Given the description of an element on the screen output the (x, y) to click on. 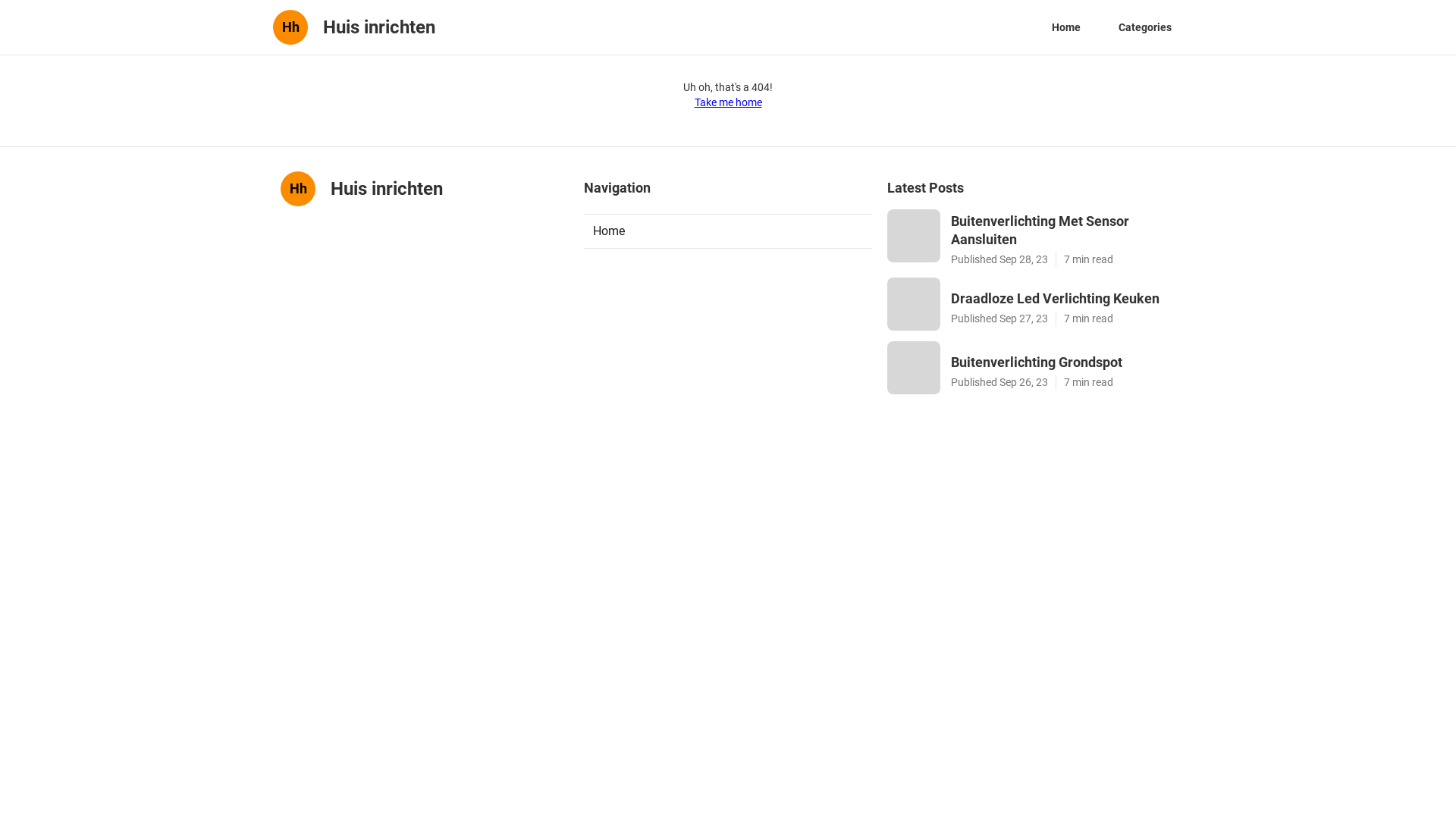
Home Element type: text (727, 230)
Buitenverlichting Met Sensor Aansluiten Element type: text (1062, 230)
Buitenverlichting Grondspot Element type: text (1062, 362)
Take me home Element type: text (728, 101)
Home Element type: text (1066, 26)
Categories Element type: text (1145, 26)
Draadloze Led Verlichting Keuken Element type: text (1062, 298)
